Given the description of an element on the screen output the (x, y) to click on. 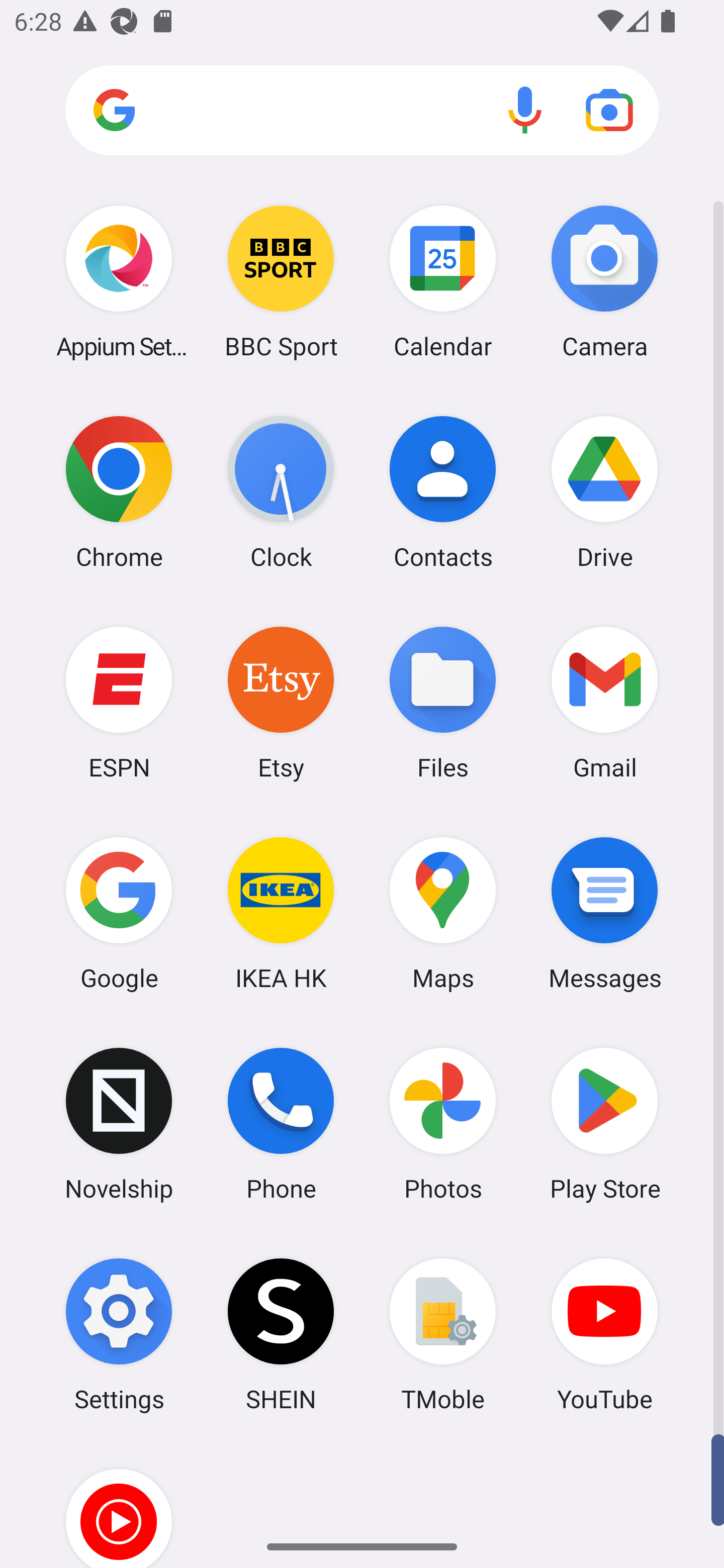
Search apps, web and more (361, 110)
Voice search (524, 109)
Google Lens (608, 109)
Appium Settings (118, 281)
BBC Sport (280, 281)
Calendar (443, 281)
Camera (604, 281)
Chrome (118, 492)
Clock (280, 492)
Contacts (443, 492)
Drive (604, 492)
ESPN (118, 702)
Etsy (280, 702)
Files (443, 702)
Gmail (604, 702)
Google (118, 913)
IKEA HK (280, 913)
Maps (443, 913)
Messages (604, 913)
Novelship (118, 1124)
Phone (280, 1124)
Photos (443, 1124)
Play Store (604, 1124)
Settings (118, 1334)
SHEIN (280, 1334)
TMoble (443, 1334)
YouTube (604, 1334)
YT Music (118, 1503)
